Given the description of an element on the screen output the (x, y) to click on. 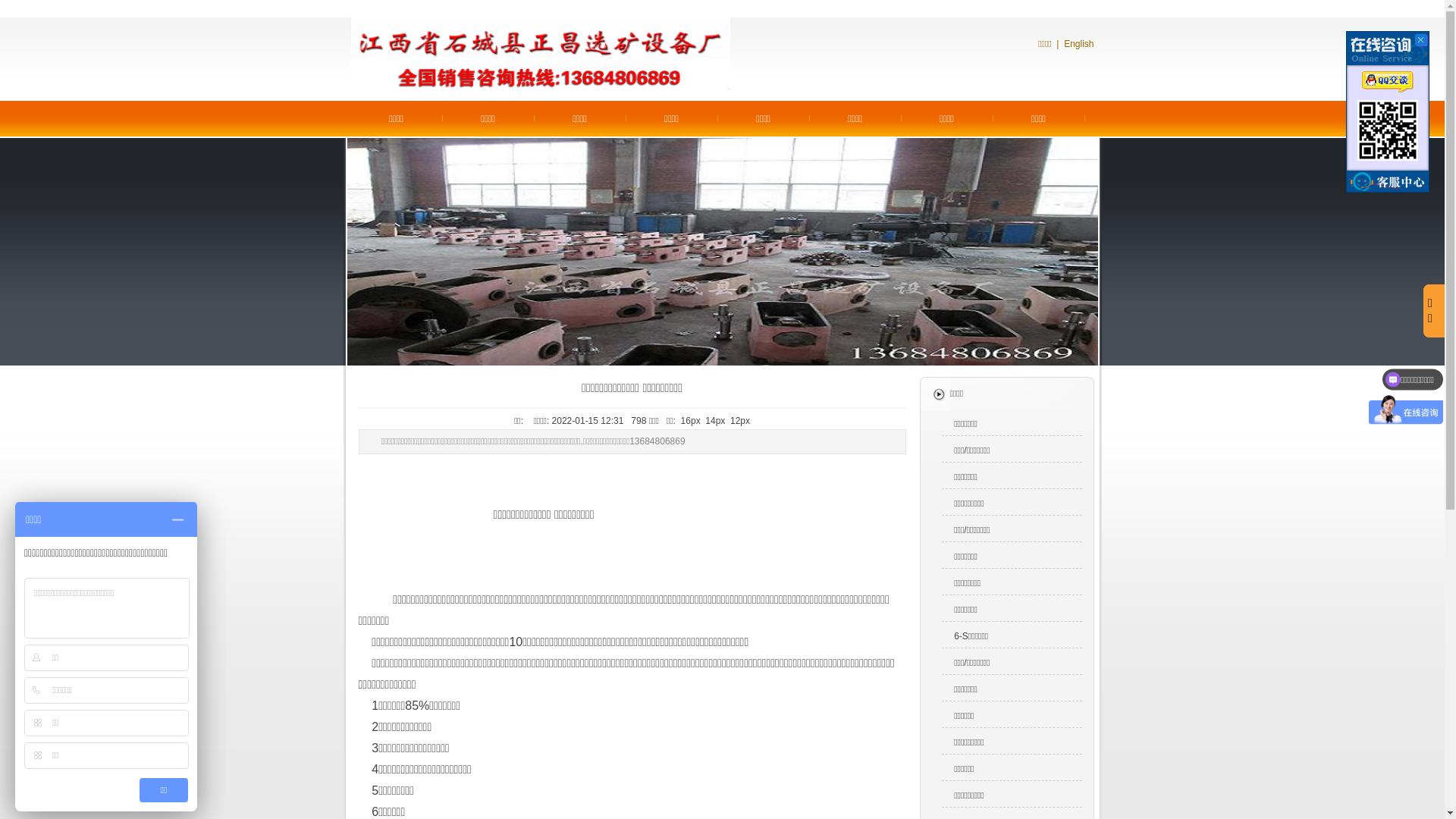
16px Element type: text (690, 420)
14px Element type: text (714, 420)
12px Element type: text (739, 420)
English Element type: text (1078, 43)
